Given the description of an element on the screen output the (x, y) to click on. 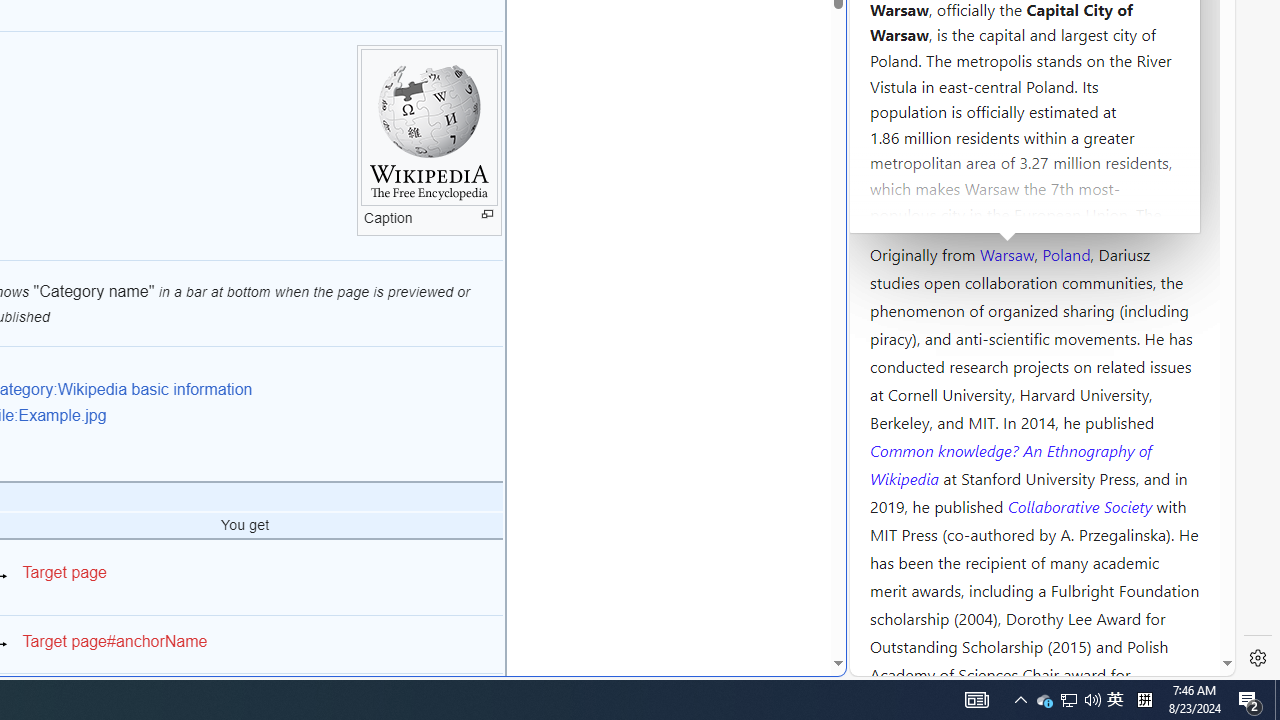
Collaborative Society  (1082, 505)
Common knowledge? An Ethnography of Wikipedia (1010, 463)
Harvard University (934, 205)
Target page#anchorName (114, 641)
Poland (1065, 253)
Target page (64, 572)
Kozminski University (1034, 136)
